Given the description of an element on the screen output the (x, y) to click on. 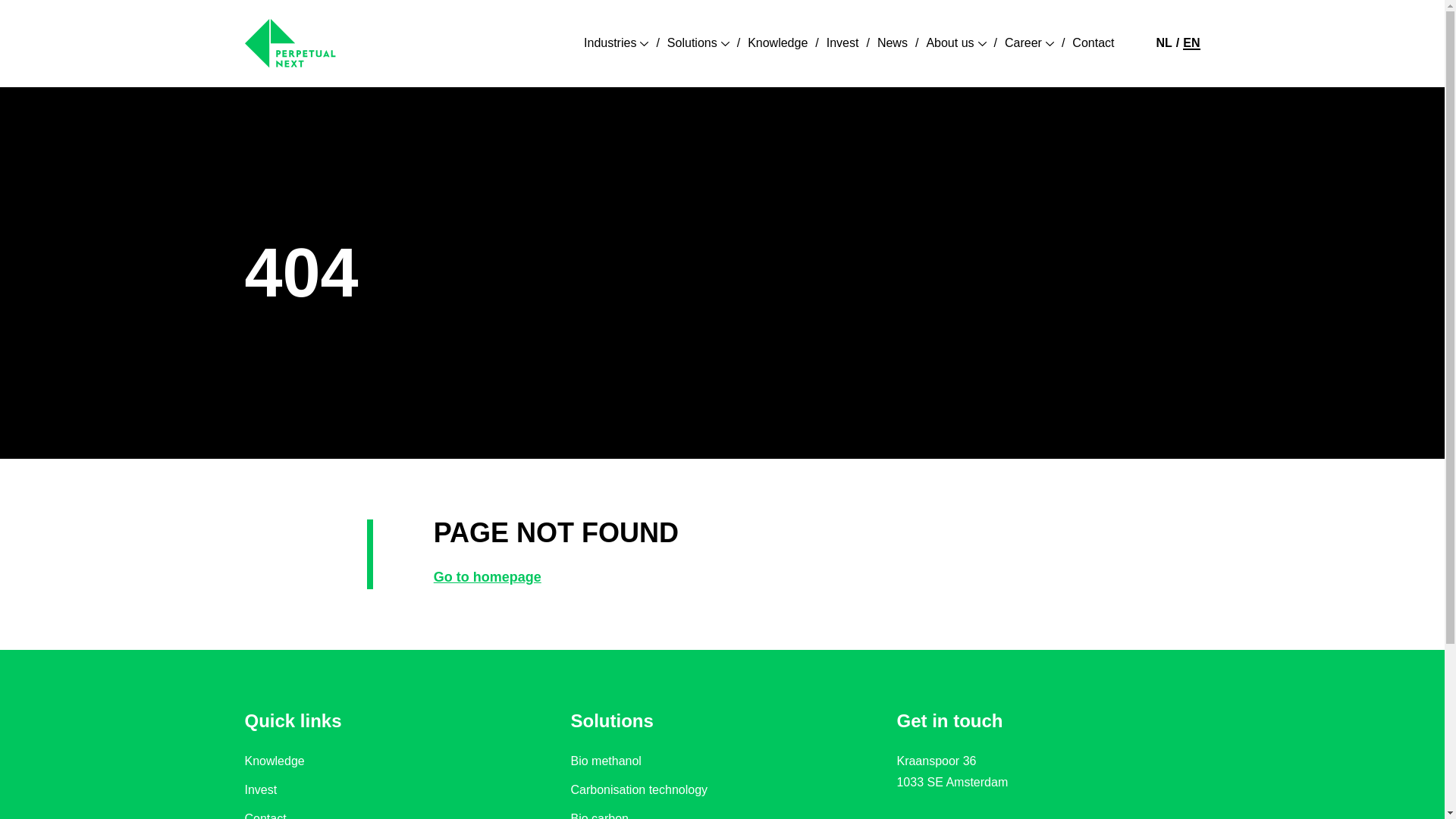
NL (1164, 42)
About us (955, 43)
Home (289, 42)
Invest (843, 43)
Go to homepage (487, 576)
Bio methanol (605, 761)
Knowledge (778, 43)
Carbonisation technology (638, 789)
EN (1190, 42)
Knowledge (778, 43)
